Given the description of an element on the screen output the (x, y) to click on. 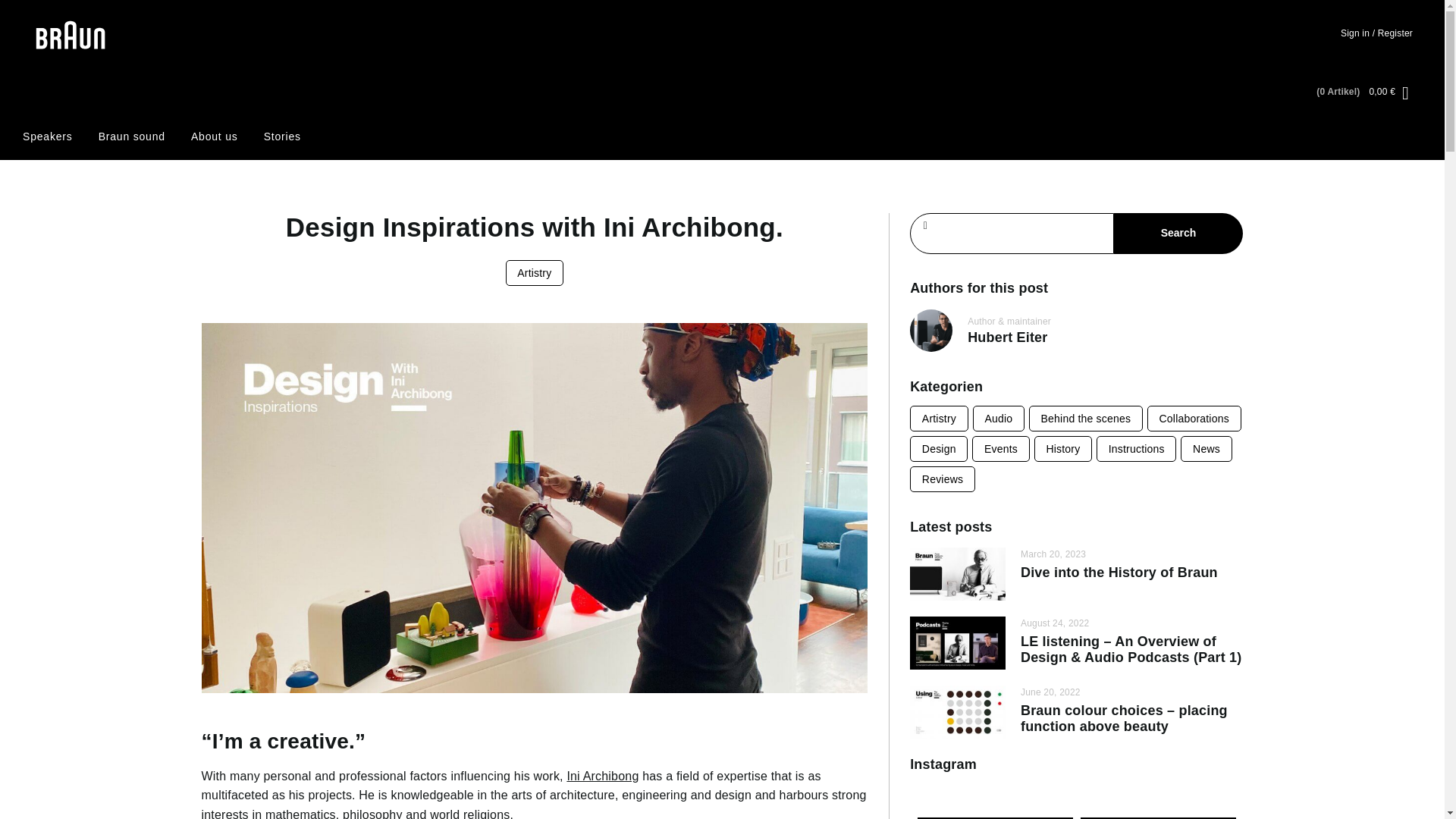
Artistry (534, 272)
Braun sound (131, 135)
Ini Archibong (602, 775)
Artistry (939, 418)
Braun sound (131, 135)
Speakers (47, 135)
About us (213, 135)
Stories (282, 135)
Search (1178, 232)
Search (1178, 232)
